Given the description of an element on the screen output the (x, y) to click on. 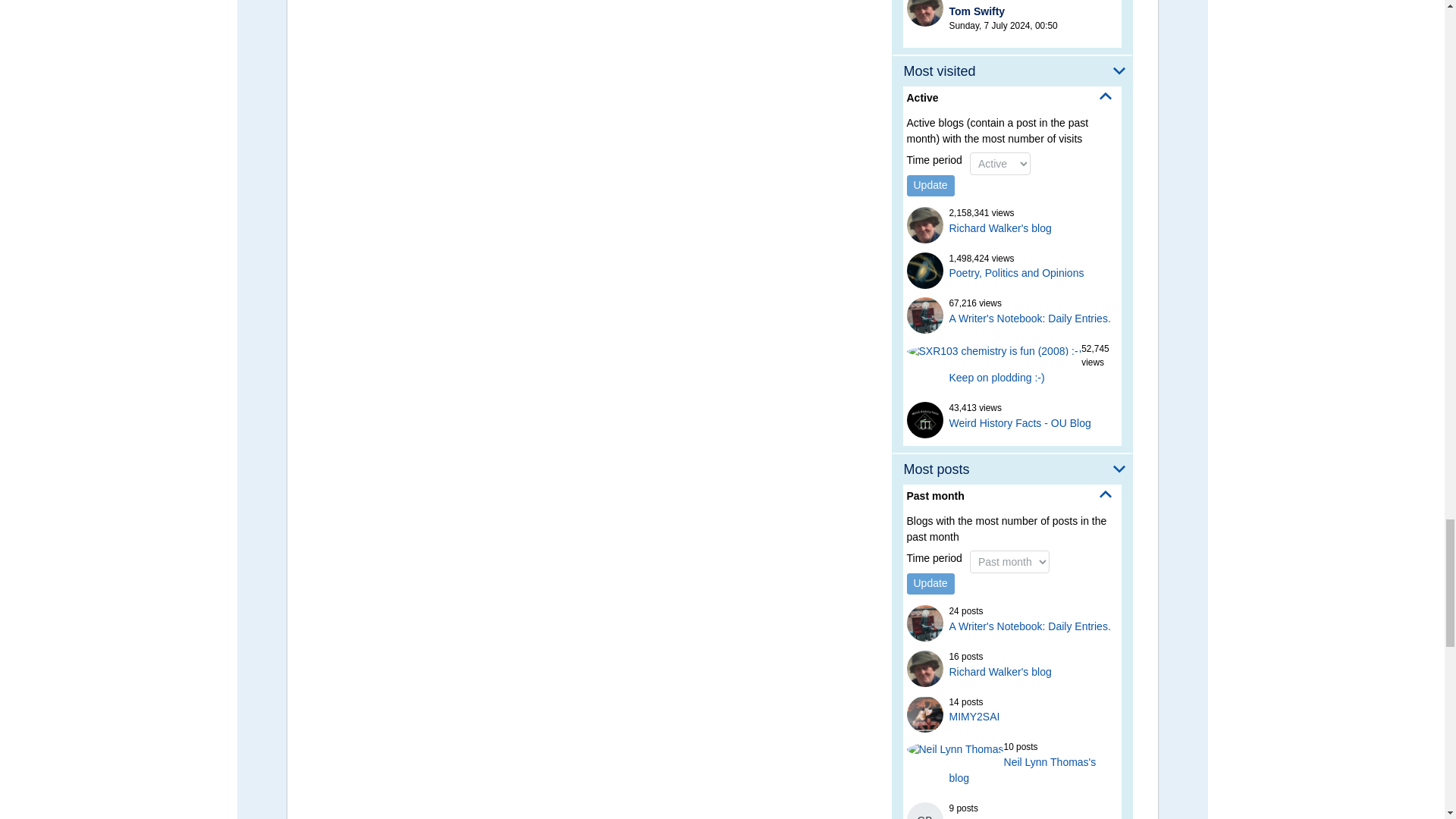
Update (931, 185)
Update (931, 583)
